Given the description of an element on the screen output the (x, y) to click on. 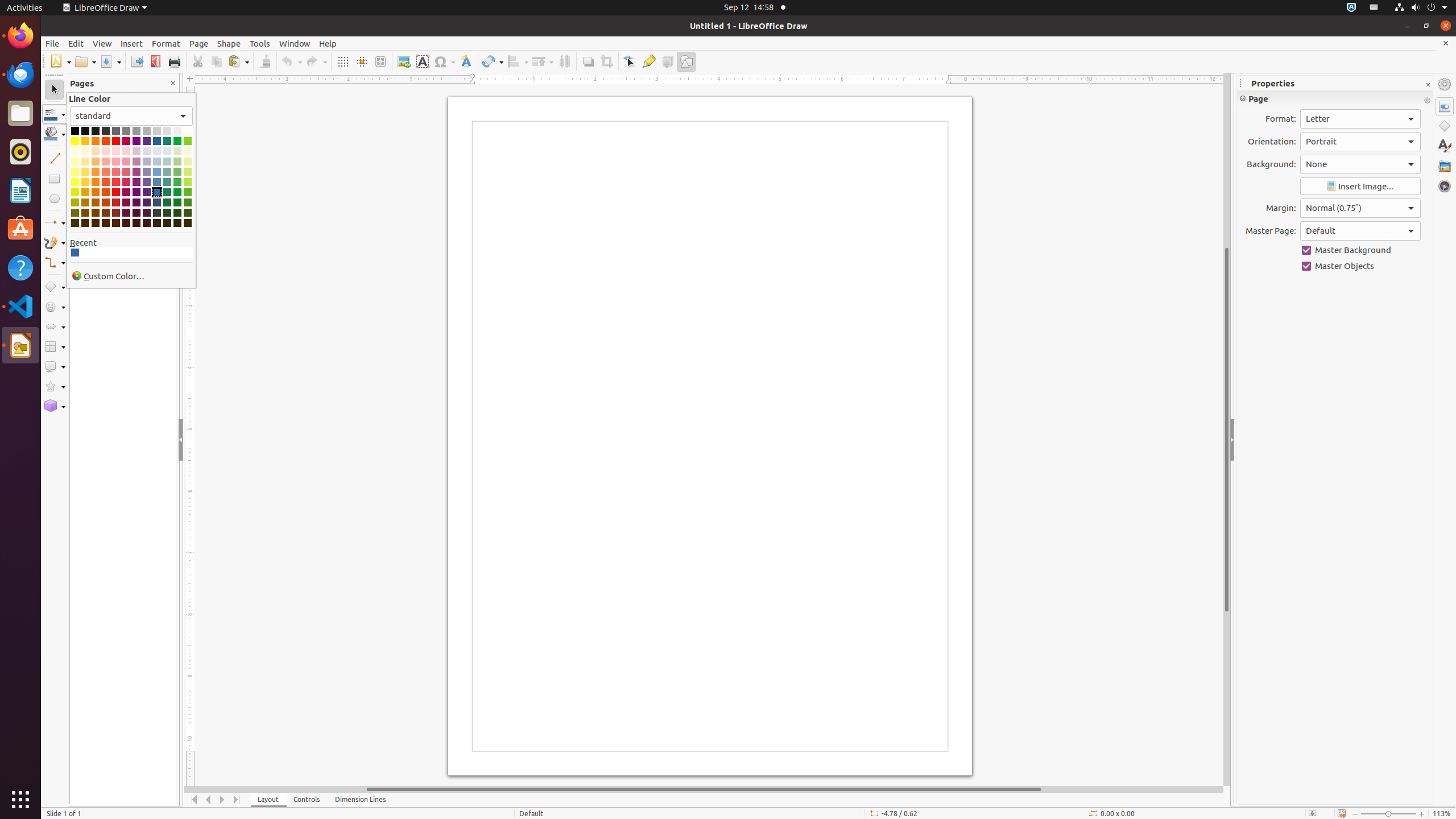
Light Orange 4 Element type: list-item (95, 151)
Dark Red 4 Element type: list-item (115, 222)
Lines and Arrows Element type: push-button (54, 222)
Light Brick 1 Element type: list-item (105, 181)
Rectangle Element type: push-button (53, 178)
